Given the description of an element on the screen output the (x, y) to click on. 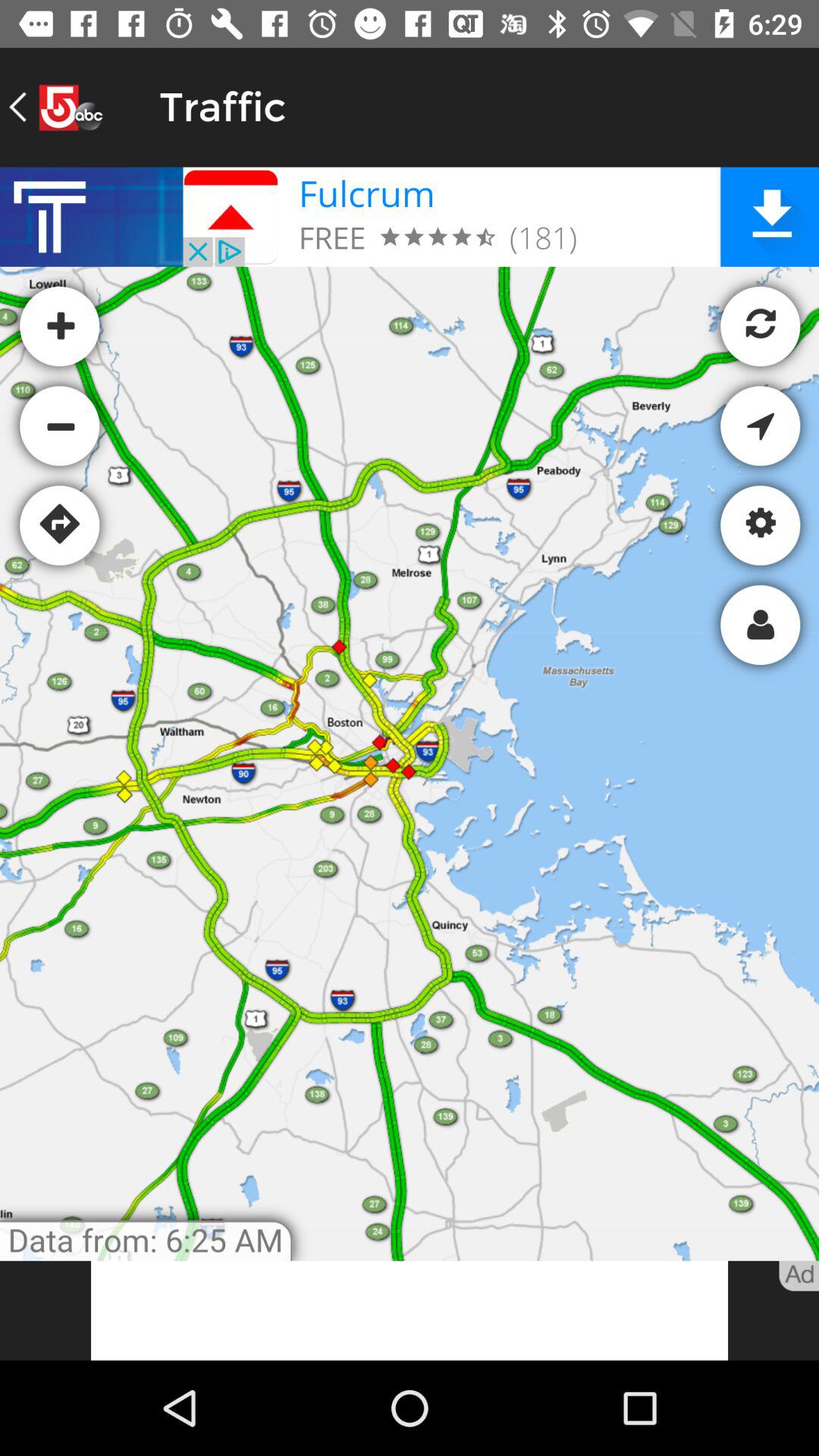
click the space bar (409, 1310)
